Given the description of an element on the screen output the (x, y) to click on. 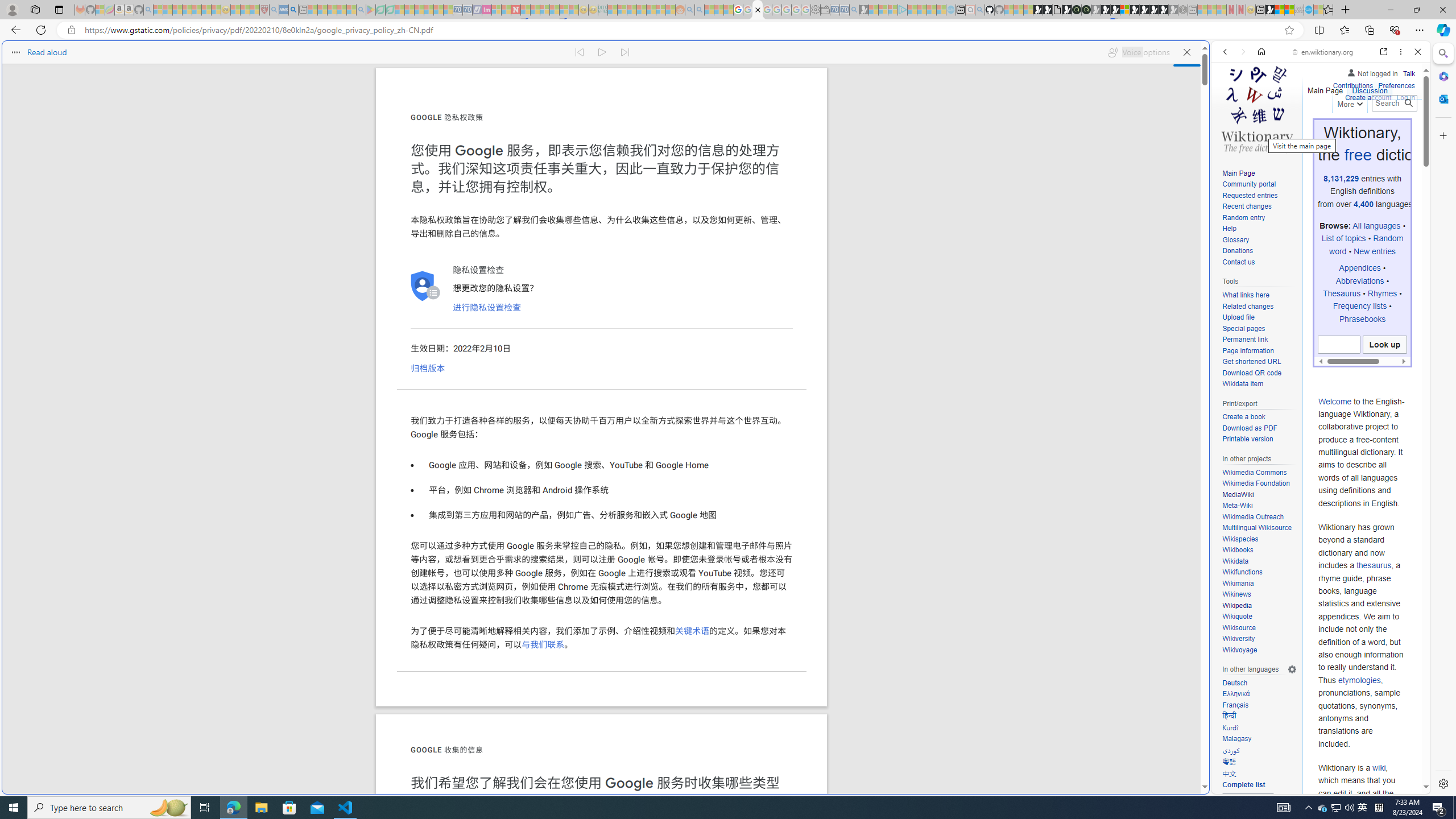
Welcome (1334, 401)
Malagasy (1236, 738)
Wikimedia Commons (1259, 472)
Random entry (1259, 218)
